Given the description of an element on the screen output the (x, y) to click on. 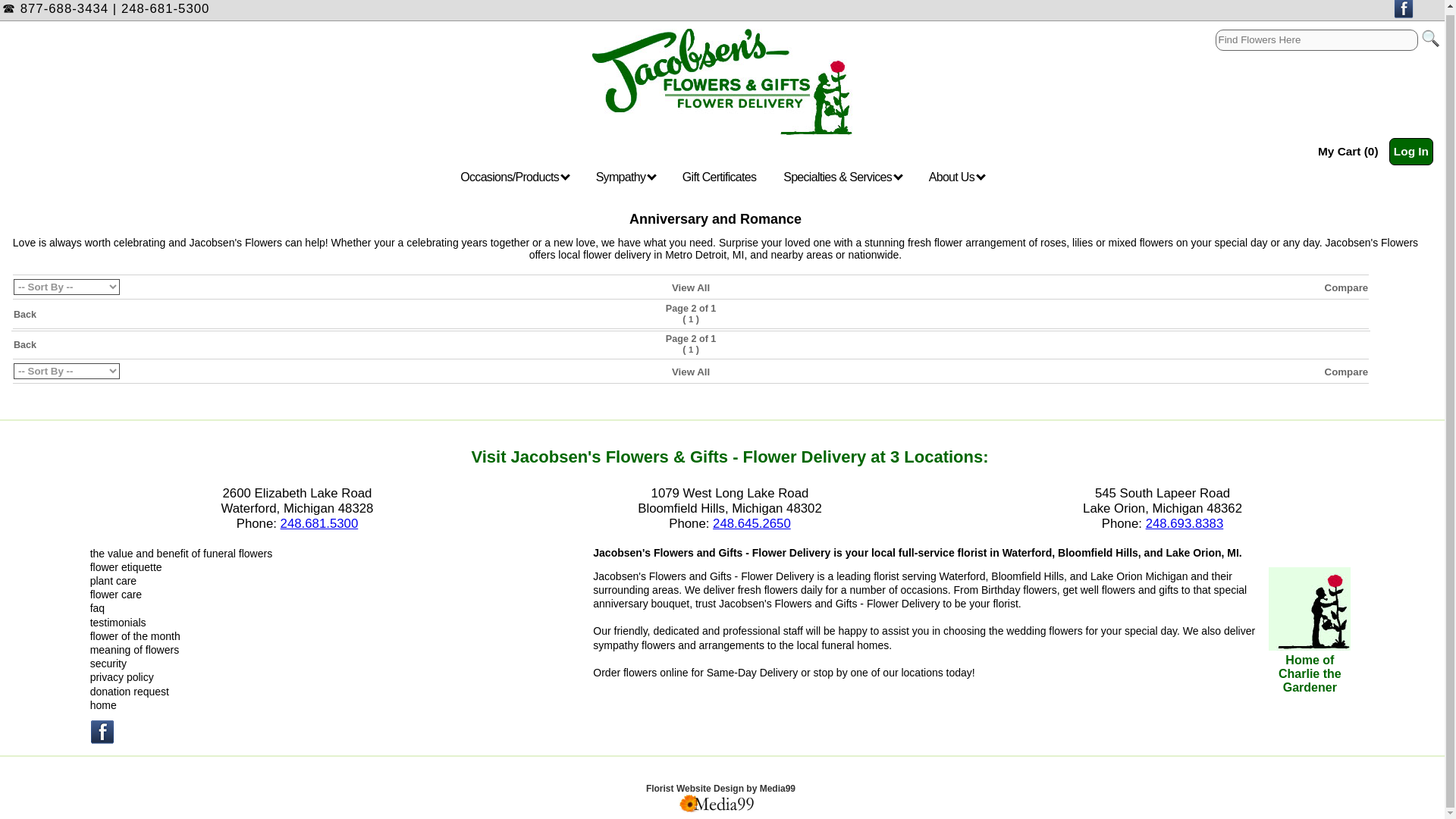
Log In (1410, 151)
248-681-5300 (164, 8)
877-688-3434 (64, 8)
